Given the description of an element on the screen output the (x, y) to click on. 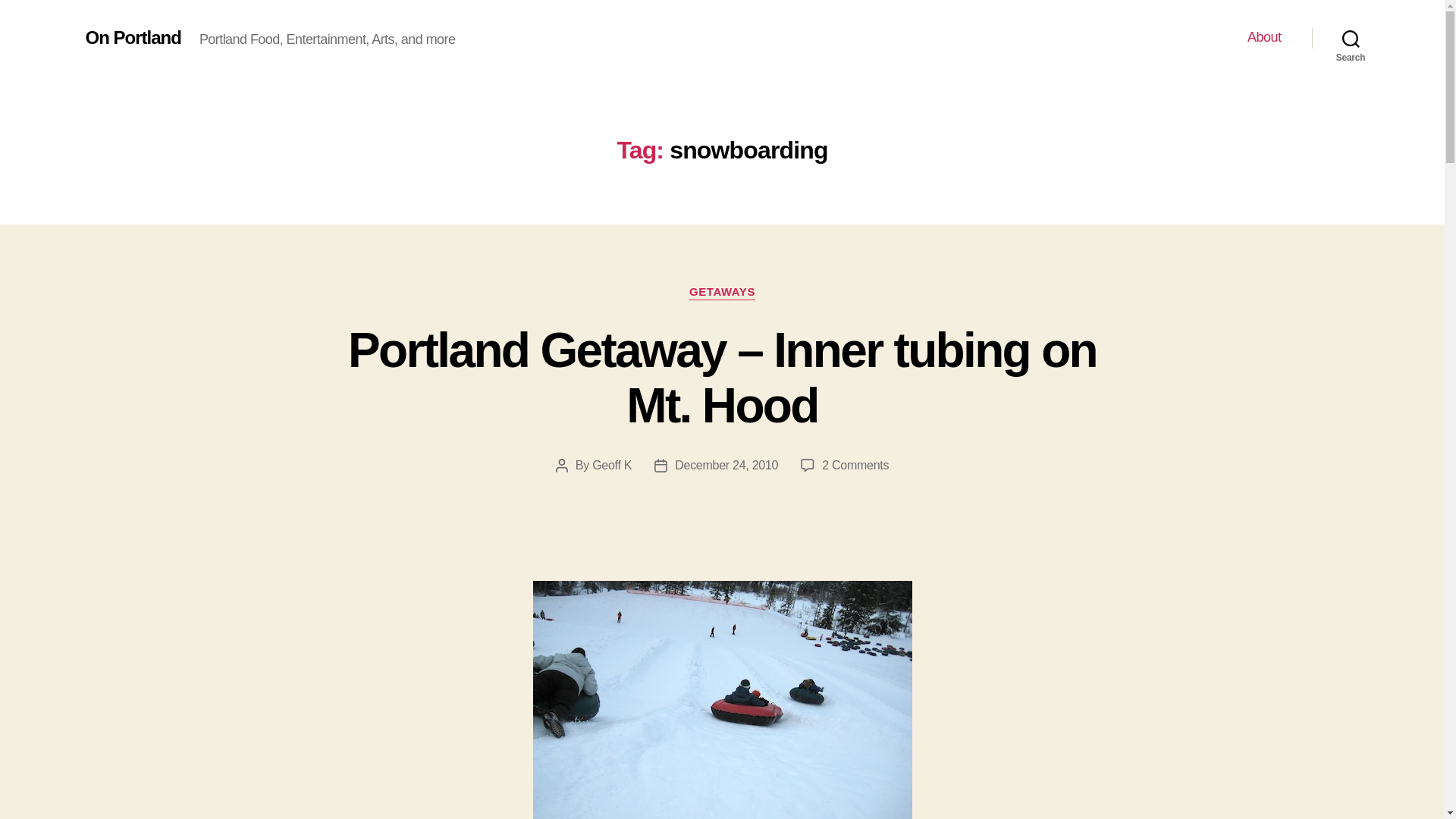
Inner Tubing at Skibowl at Mt. Hood (721, 699)
Geoff K (611, 464)
December 24, 2010 (726, 464)
GETAWAYS (721, 292)
Search (1350, 37)
About (1264, 37)
On Portland (132, 37)
